Given the description of an element on the screen output the (x, y) to click on. 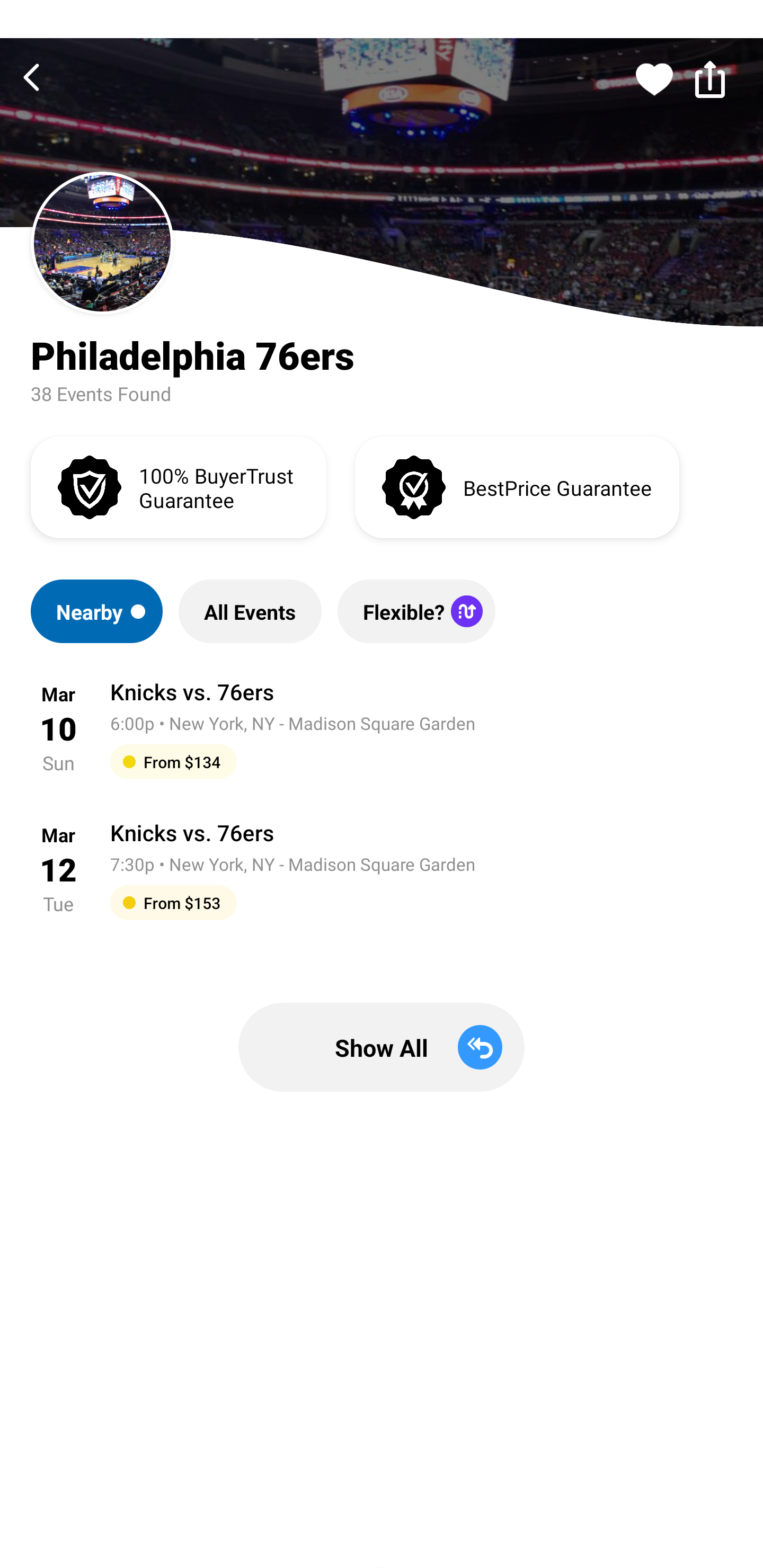
100% BuyerTrust Guarantee (178, 486)
BestPrice Guarantee (516, 486)
Nearby (96, 611)
All Events (249, 611)
Flexible? (416, 611)
Show All (381, 1047)
